Given the description of an element on the screen output the (x, y) to click on. 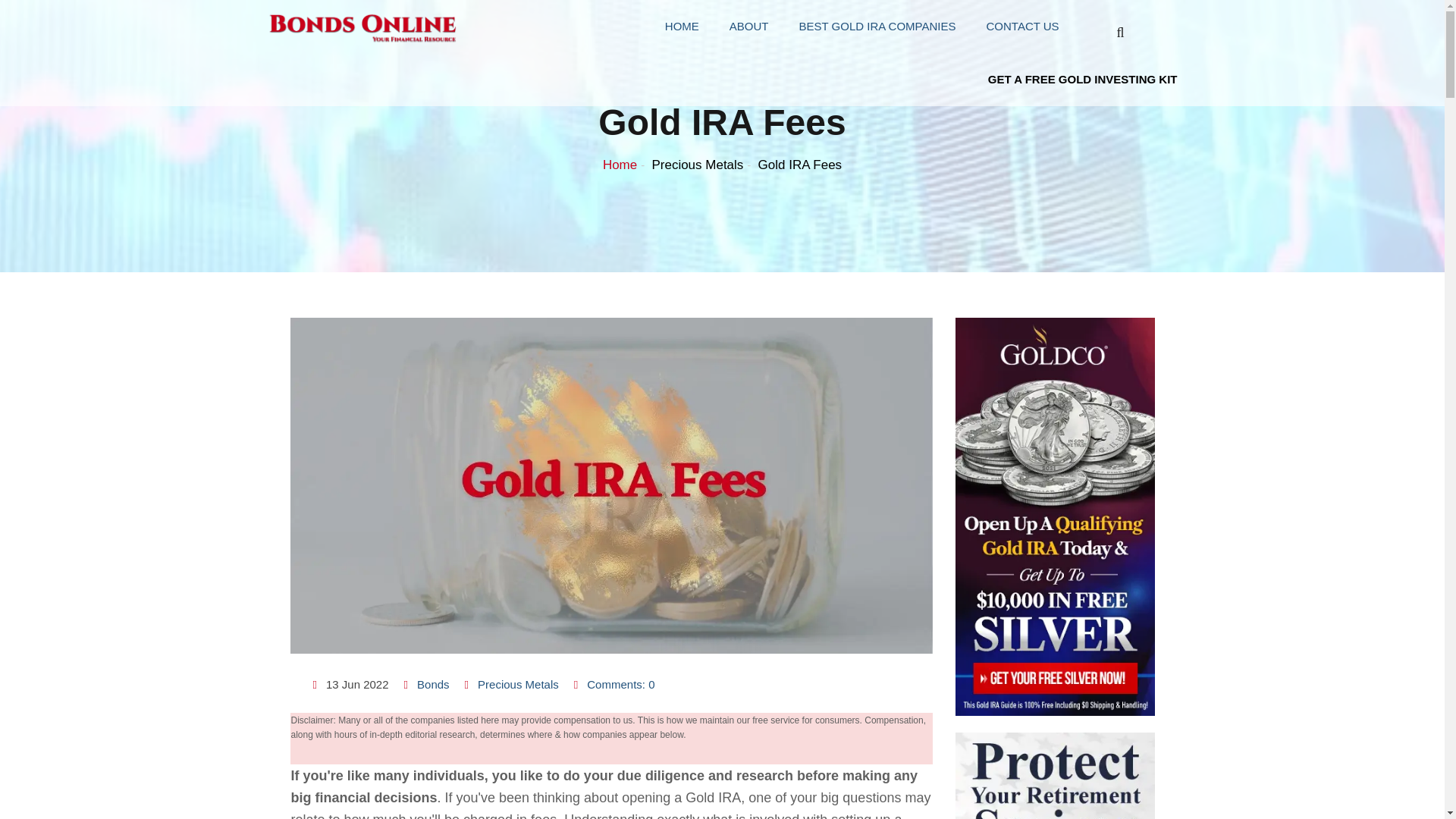
GET A FREE GOLD INVESTING KIT (1082, 78)
Bonds (432, 684)
HOME (681, 26)
ABOUT (749, 26)
CONTACT US (1022, 26)
Precious Metals (518, 684)
Home (619, 164)
BEST GOLD IRA COMPANIES (877, 26)
Comments: 0 (619, 684)
Precious Metals (696, 164)
